Given the description of an element on the screen output the (x, y) to click on. 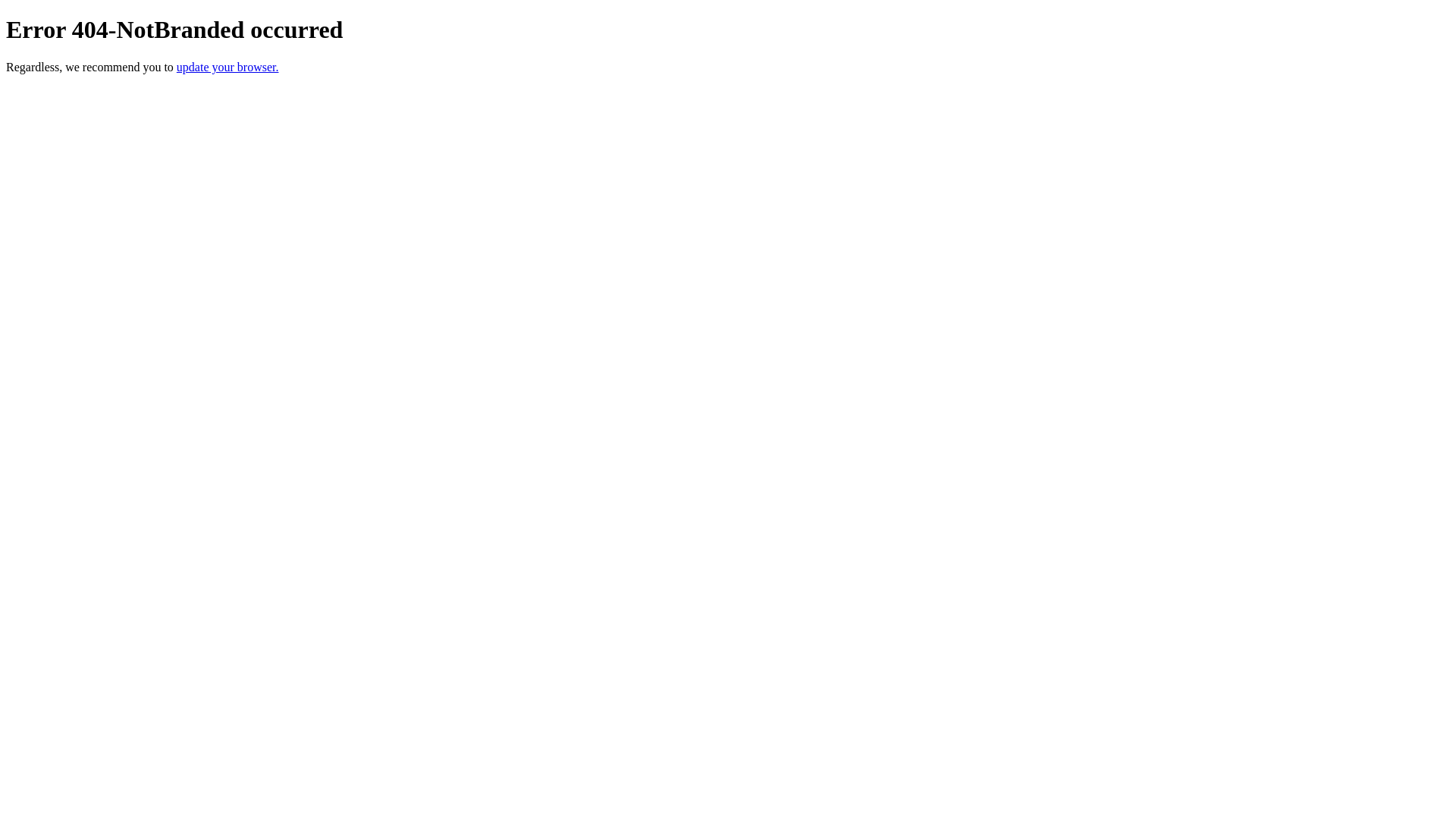
update your browser. Element type: text (227, 66)
